Given the description of an element on the screen output the (x, y) to click on. 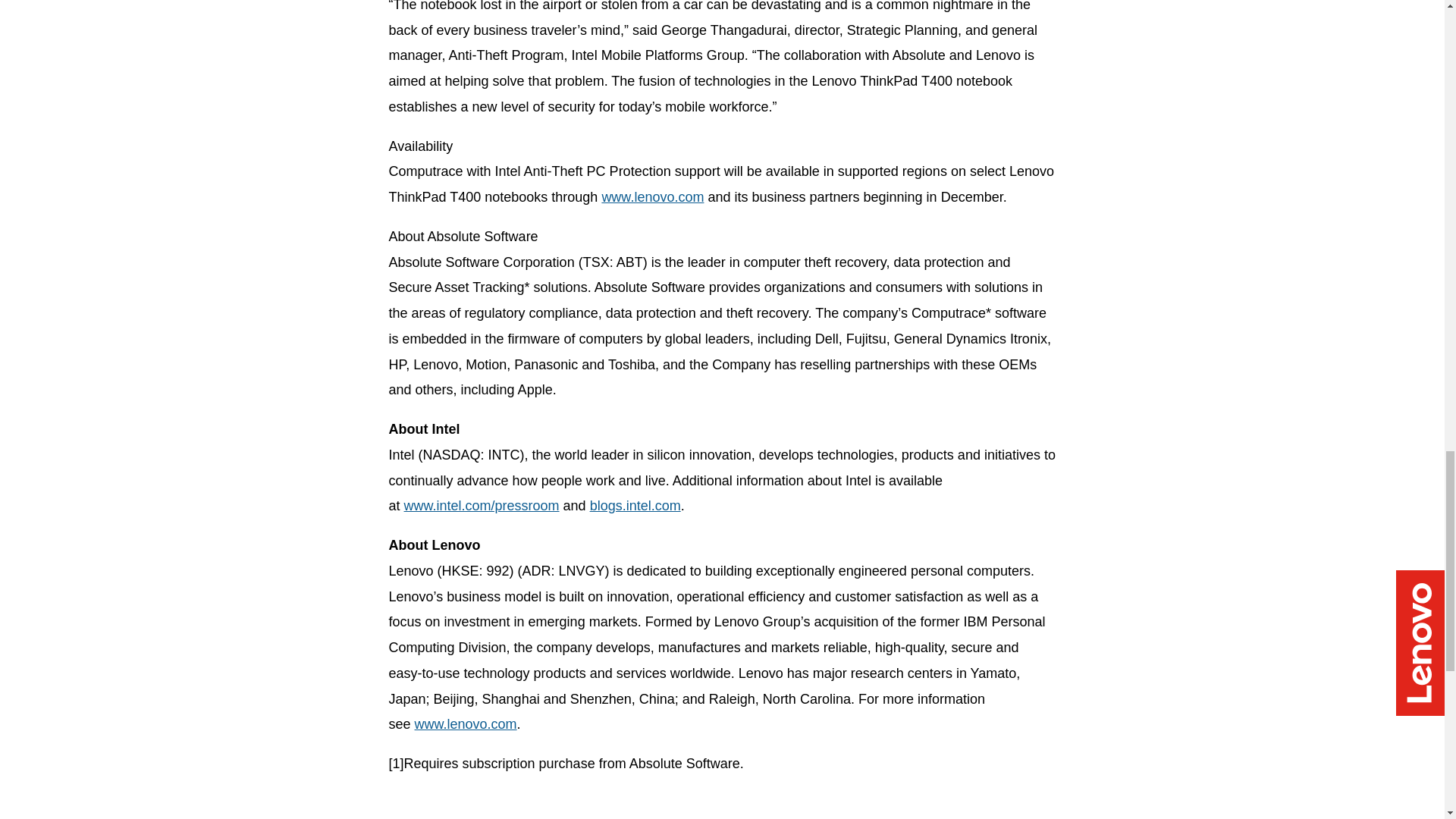
www.lenovo.com (465, 724)
blogs.intel.com (635, 505)
www.lenovo.com (652, 196)
